Given the description of an element on the screen output the (x, y) to click on. 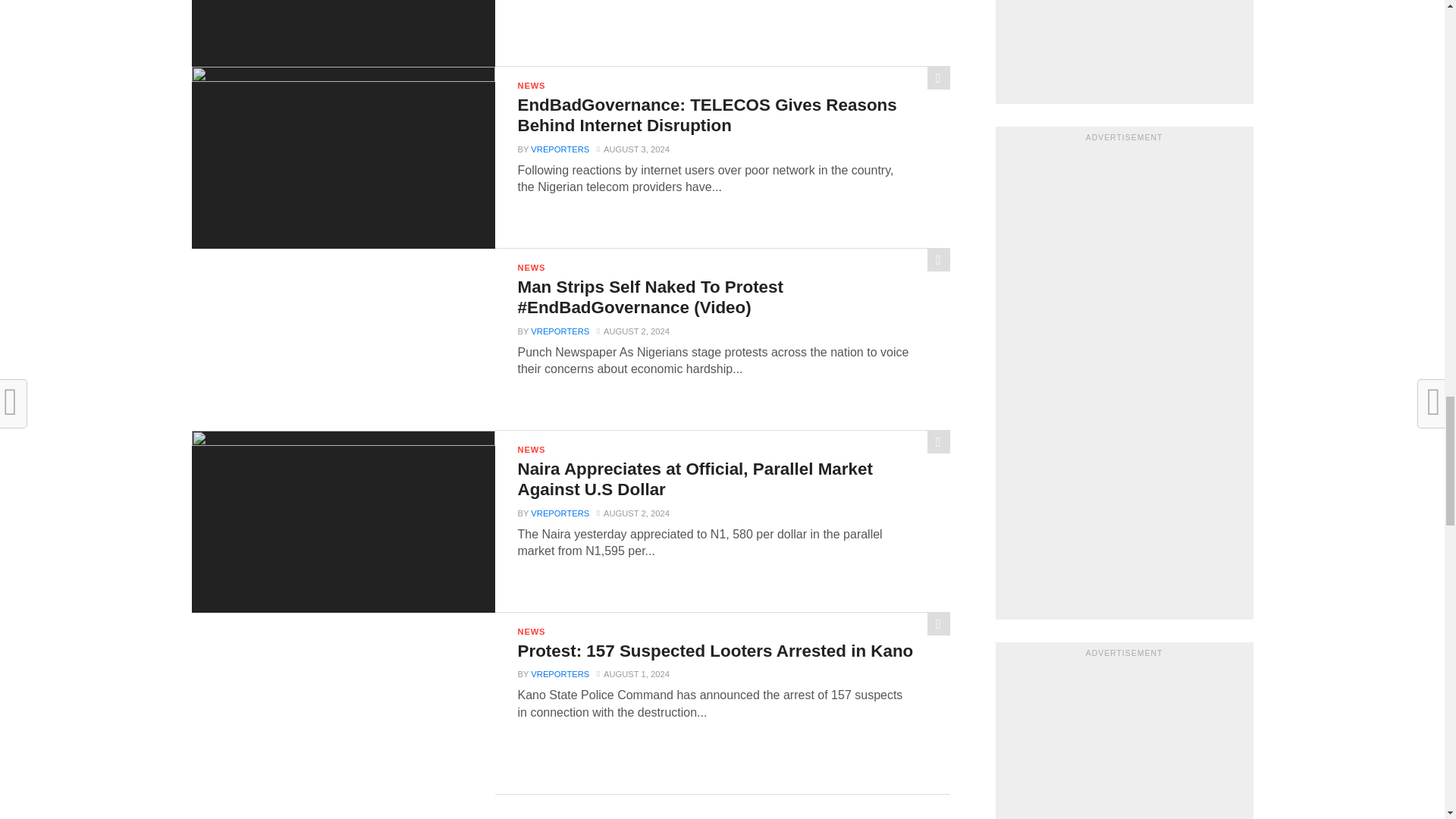
Posts by Vreporters (560, 148)
